Given the description of an element on the screen output the (x, y) to click on. 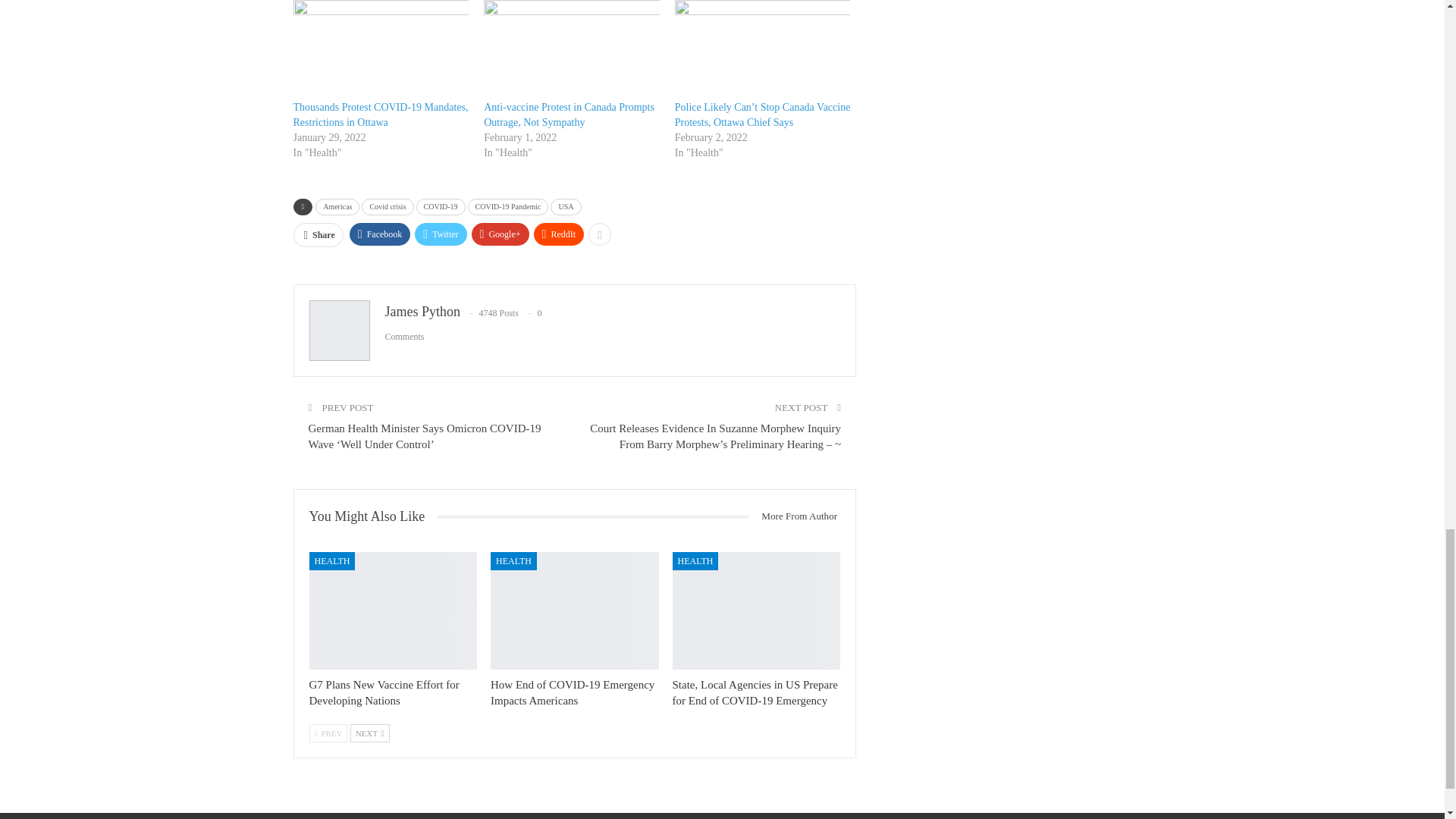
Thousands Protest COVID-19 Mandates, Restrictions in Ottawa (379, 114)
